Given the description of an element on the screen output the (x, y) to click on. 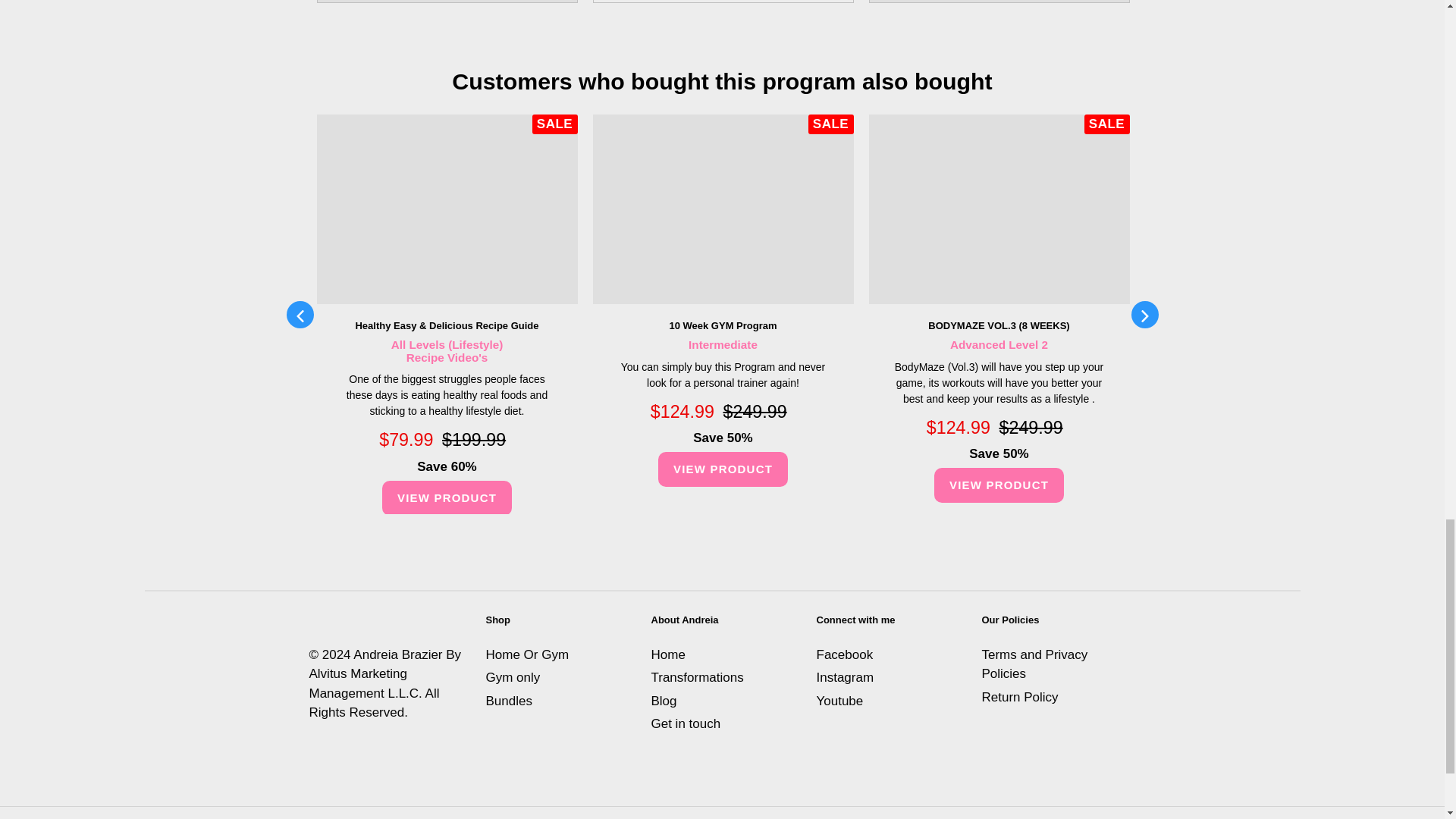
VIEW PRODUCT (999, 485)
VIEW PRODUCT (446, 498)
Home Or Gym (526, 654)
VIEW PRODUCT (722, 469)
